Given the description of an element on the screen output the (x, y) to click on. 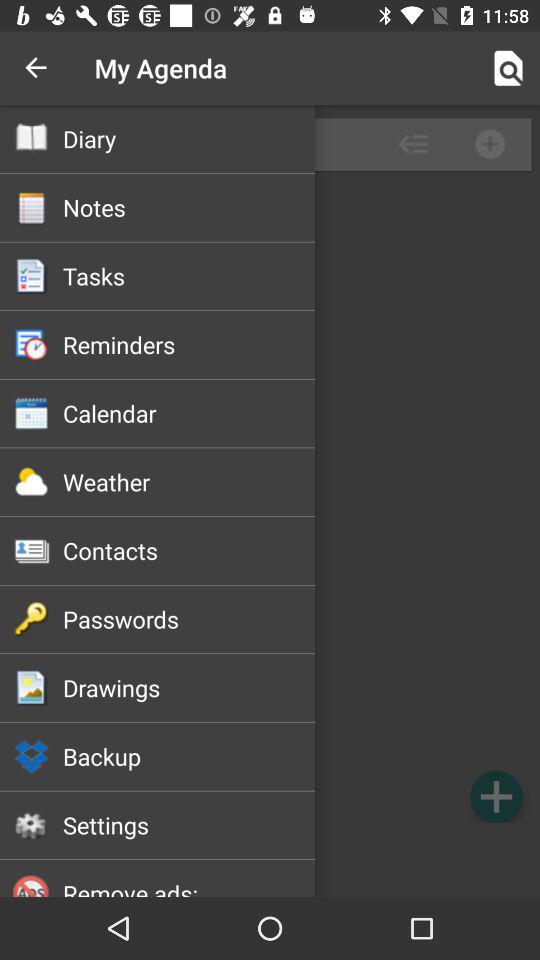
option to remove advertisements on the app (270, 861)
